Given the description of an element on the screen output the (x, y) to click on. 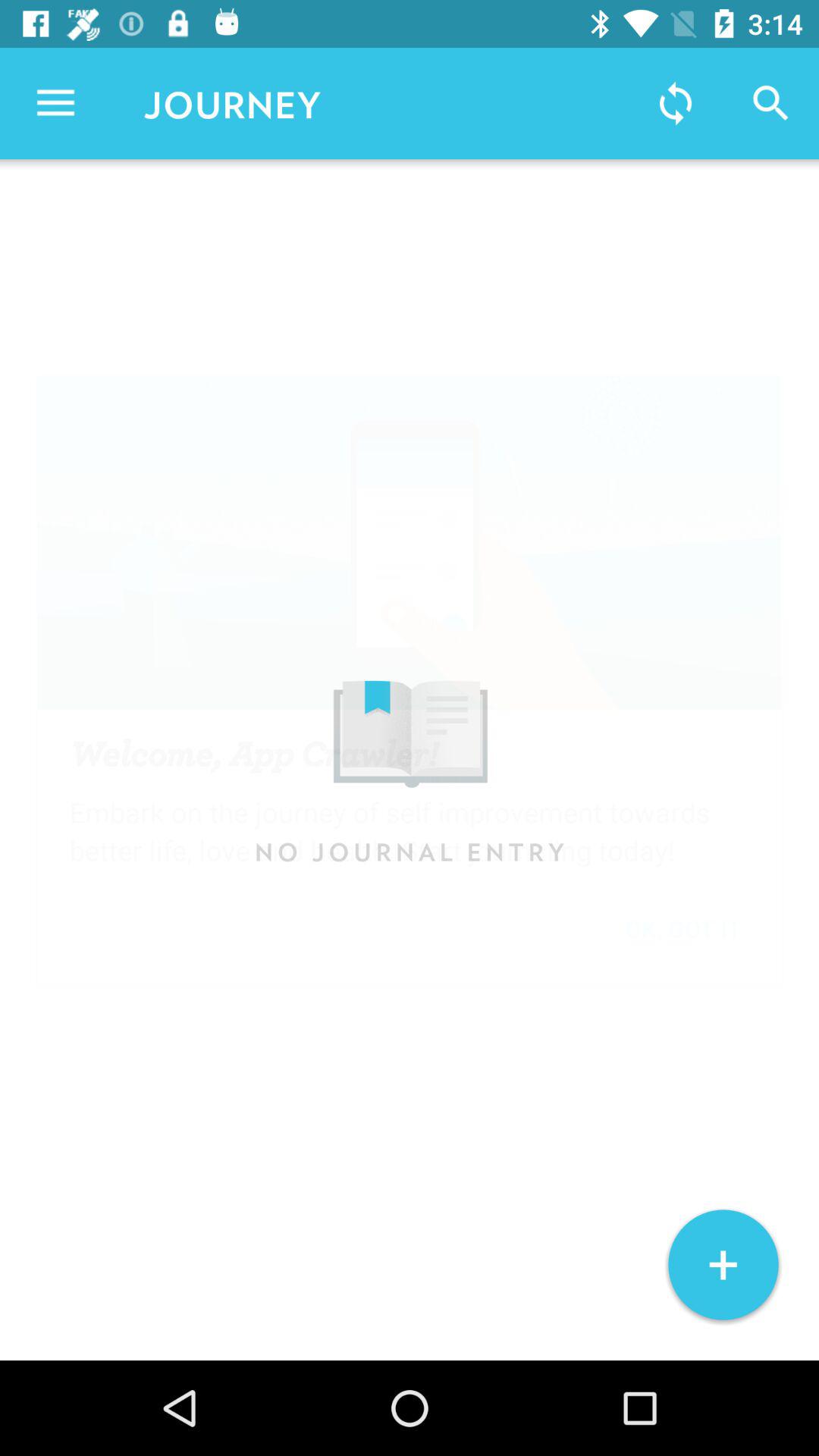
select + at the bottom right corner (723, 1264)
